Given the description of an element on the screen output the (x, y) to click on. 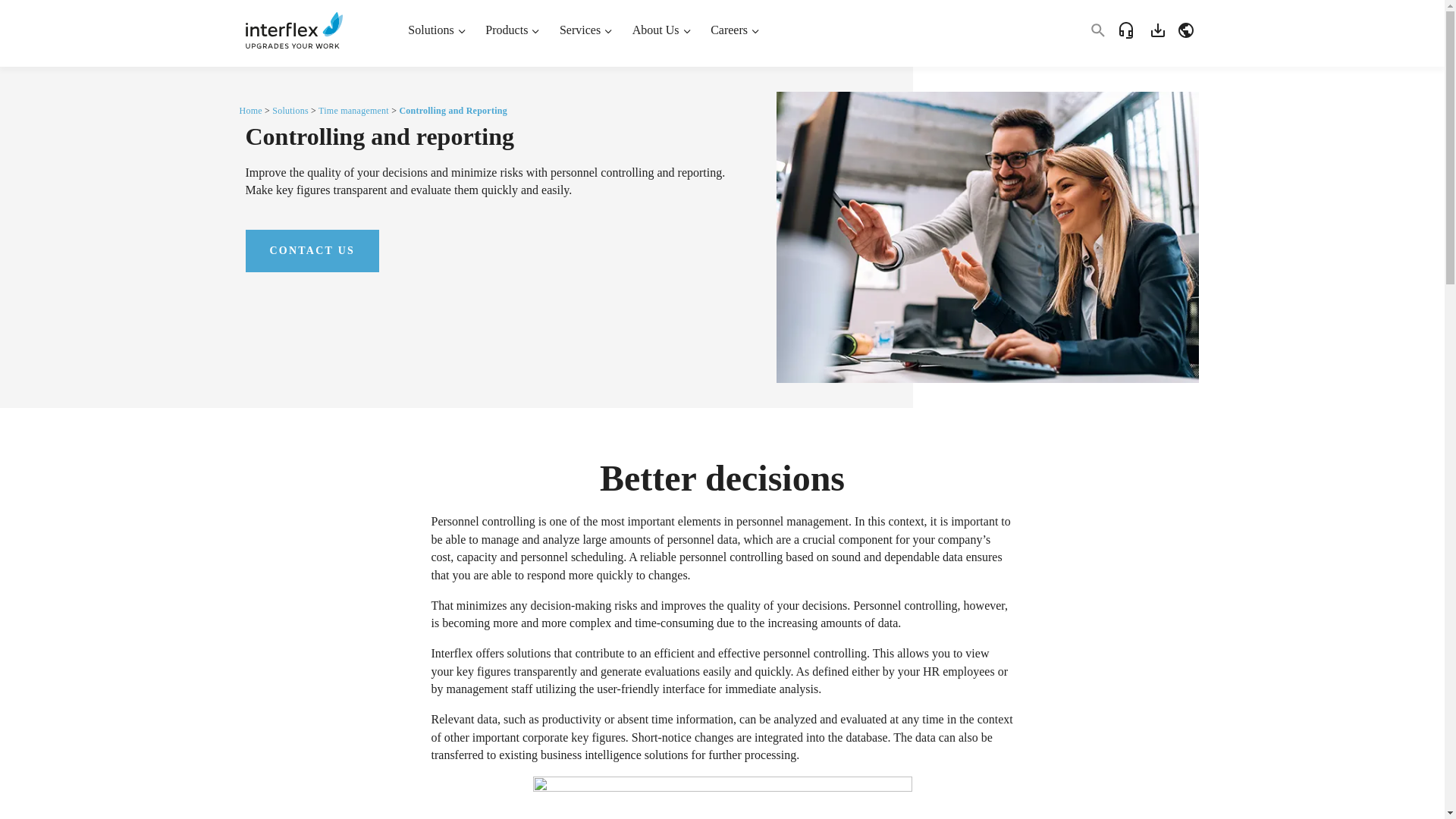
Solutions (437, 30)
Products (513, 30)
Careers (734, 30)
Services (586, 30)
About Us (661, 30)
